Given the description of an element on the screen output the (x, y) to click on. 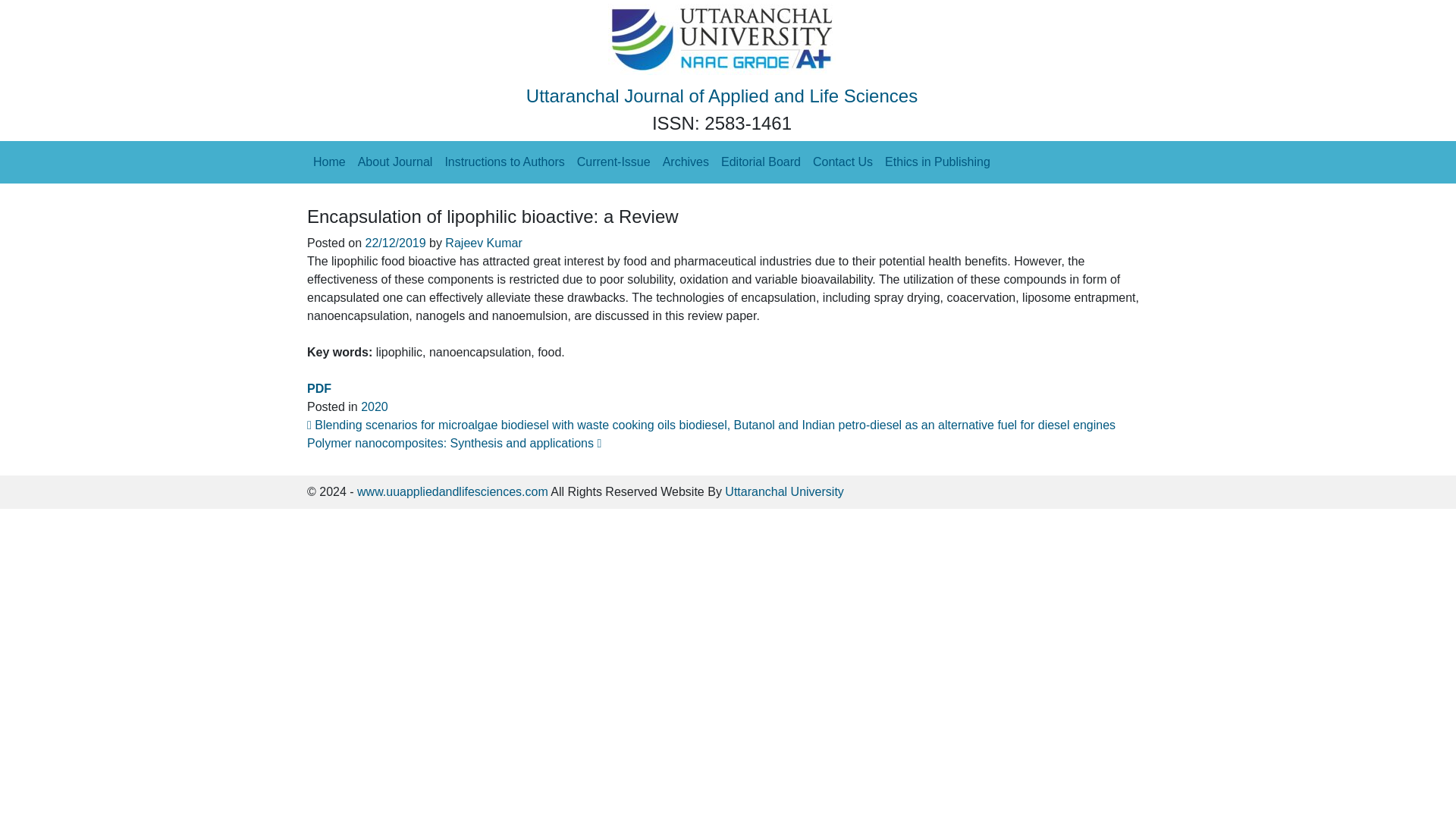
Polymer nanocomposites: Synthesis and applications  (454, 442)
2020 (374, 406)
Current-Issue (613, 162)
Uttaranchal University (784, 491)
Contact Us (842, 162)
Instructions to Authors (504, 162)
Archives (685, 162)
Contact Us (842, 162)
About Journal (395, 162)
www.uuappliedandlifesciences.com (452, 491)
